Given the description of an element on the screen output the (x, y) to click on. 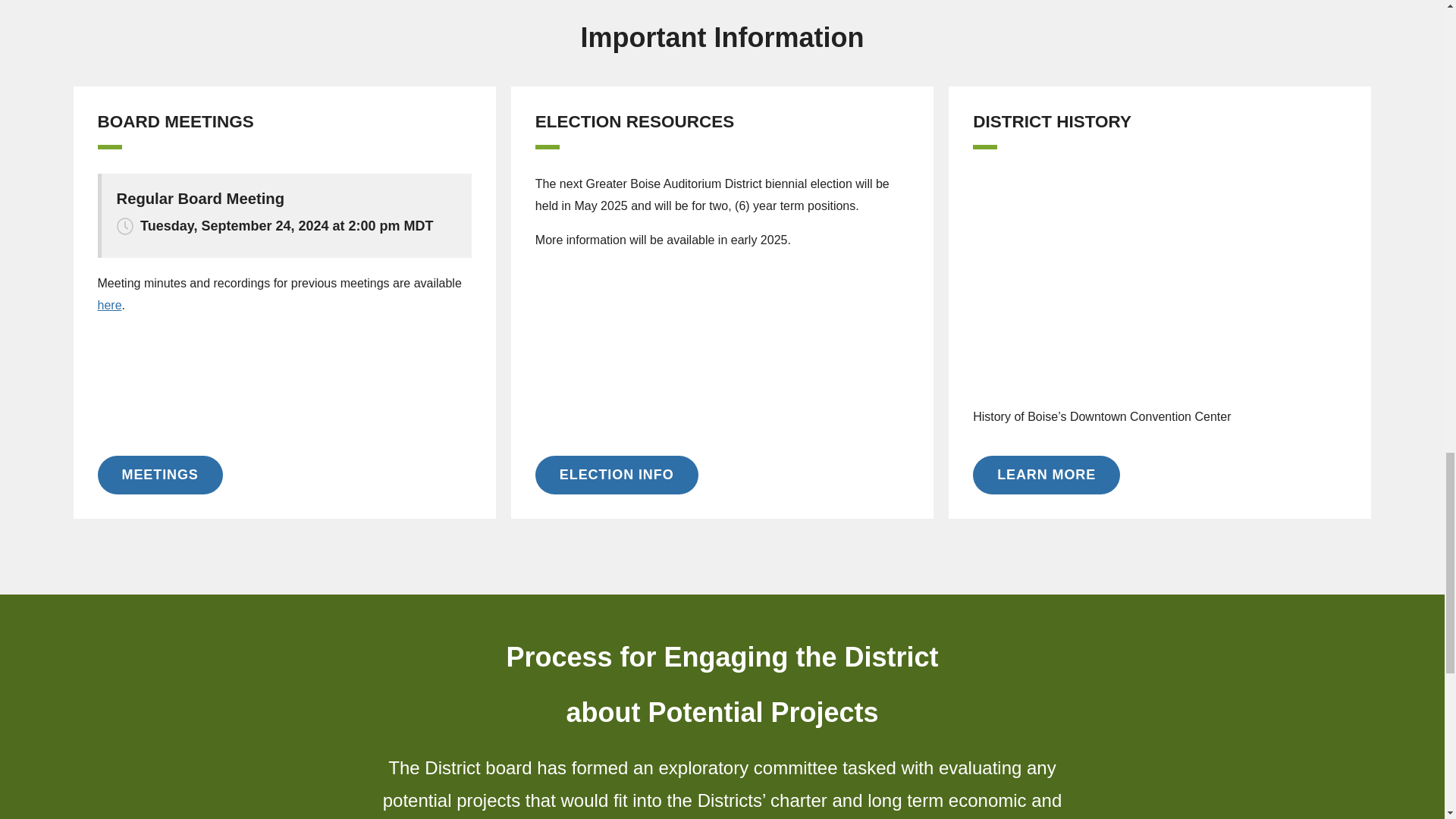
ELECTION INFO (616, 474)
here (109, 305)
MEETINGS (159, 474)
Boise Centre 25th Anniversary (1159, 279)
